Given the description of an element on the screen output the (x, y) to click on. 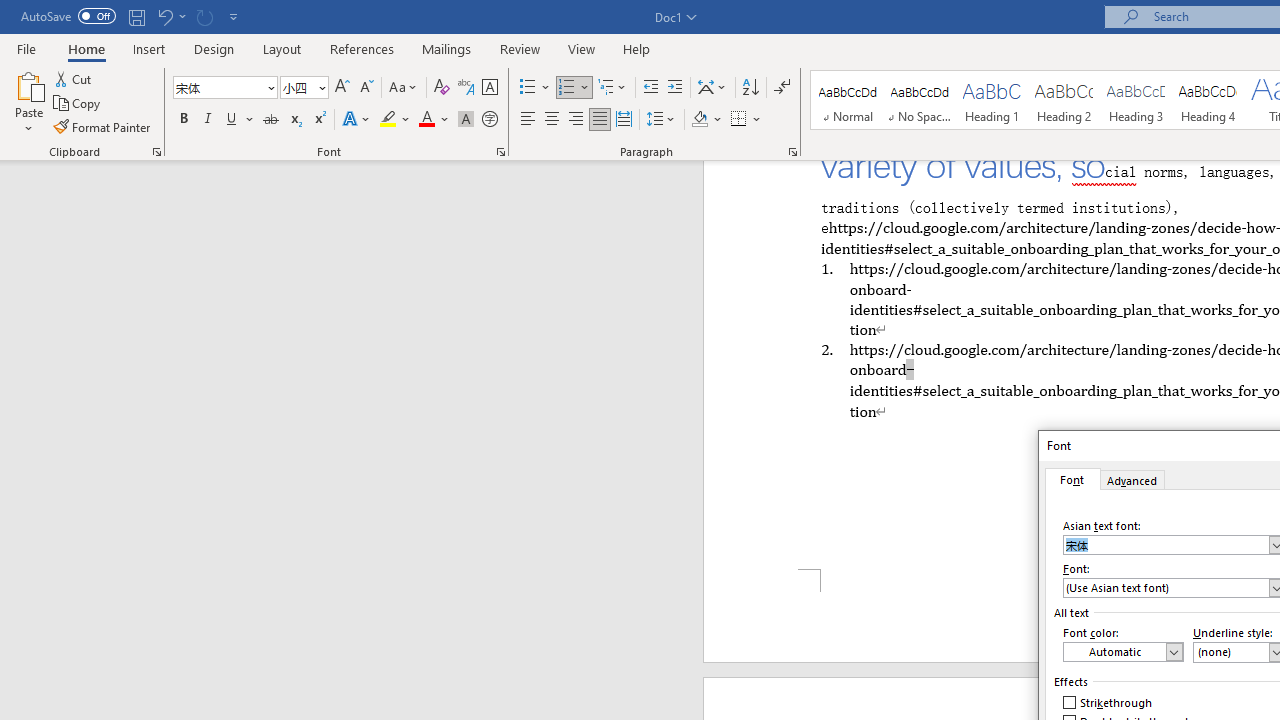
Advanced (1133, 479)
Underline (239, 119)
Office Clipboard... (156, 151)
Asian Layout (712, 87)
Line and Paragraph Spacing (661, 119)
Font (224, 87)
Numbering (566, 87)
Enclose Characters... (489, 119)
Sort... (750, 87)
Grow Font (342, 87)
Design (214, 48)
Increase Indent (675, 87)
Strikethrough (270, 119)
Layout (282, 48)
